Given the description of an element on the screen output the (x, y) to click on. 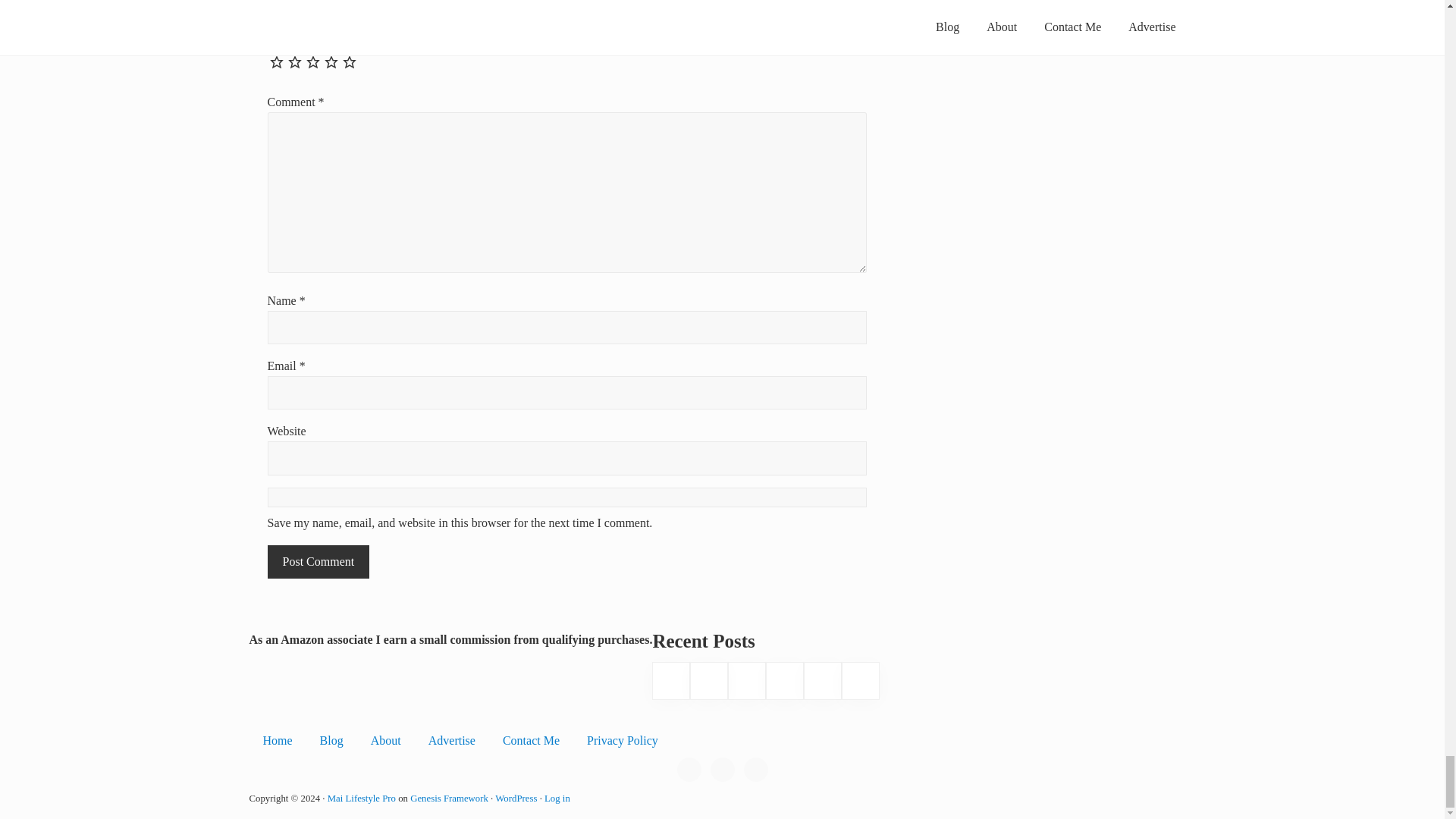
Post Comment (317, 561)
yes (566, 496)
